Given the description of an element on the screen output the (x, y) to click on. 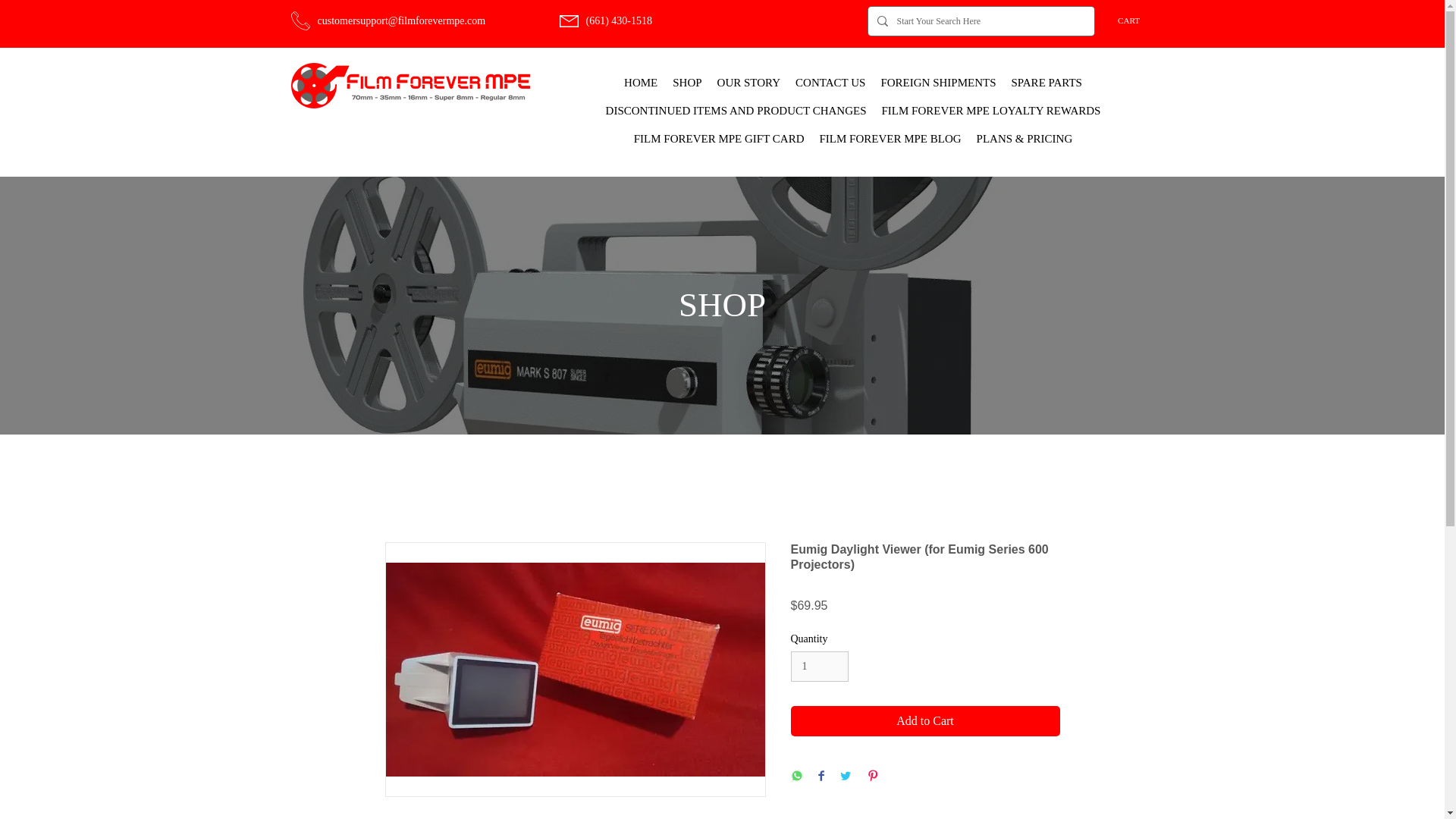
Add to Cart (924, 720)
FILM FOREVER MPE GIFT CARD (719, 139)
DISCONTINUED ITEMS AND PRODUCT CHANGES (736, 111)
FOREIGN SHIPMENTS (937, 82)
CART (1136, 20)
CART (1136, 20)
HOME (640, 82)
OUR STORY (749, 82)
FILM FOREVER MPE LOYALTY REWARDS (990, 111)
SPARE PARTS (1046, 82)
FILM FOREVER MPE BLOG (889, 139)
1 (818, 666)
CONTACT US (829, 82)
SHOP (687, 82)
